Given the description of an element on the screen output the (x, y) to click on. 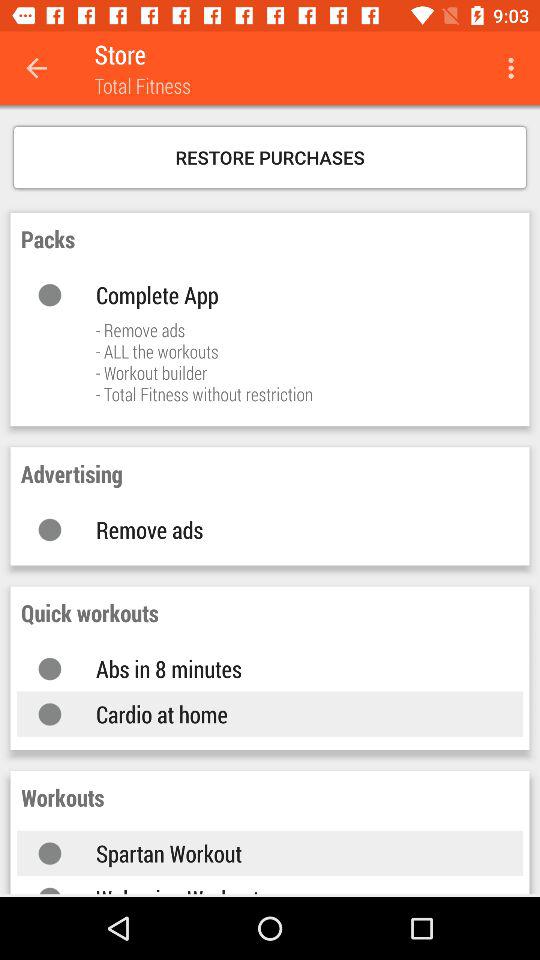
swipe to restore purchases (269, 157)
